Given the description of an element on the screen output the (x, y) to click on. 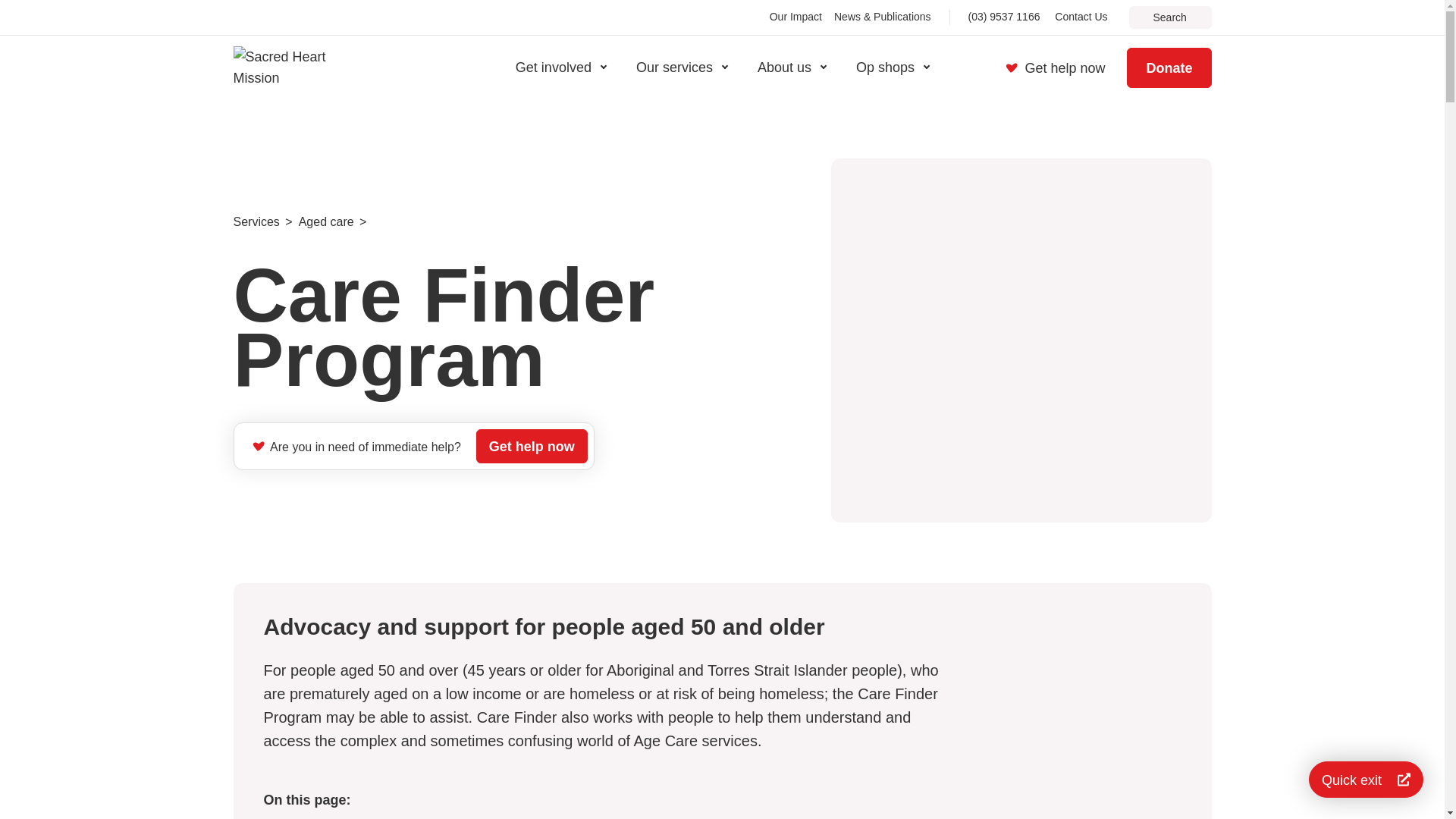
Contact Us (1080, 17)
Search (1169, 16)
Our services (681, 67)
About us (791, 67)
Get involved (560, 67)
Sacred Heart Mission (294, 66)
Our Impact (796, 16)
